Given the description of an element on the screen output the (x, y) to click on. 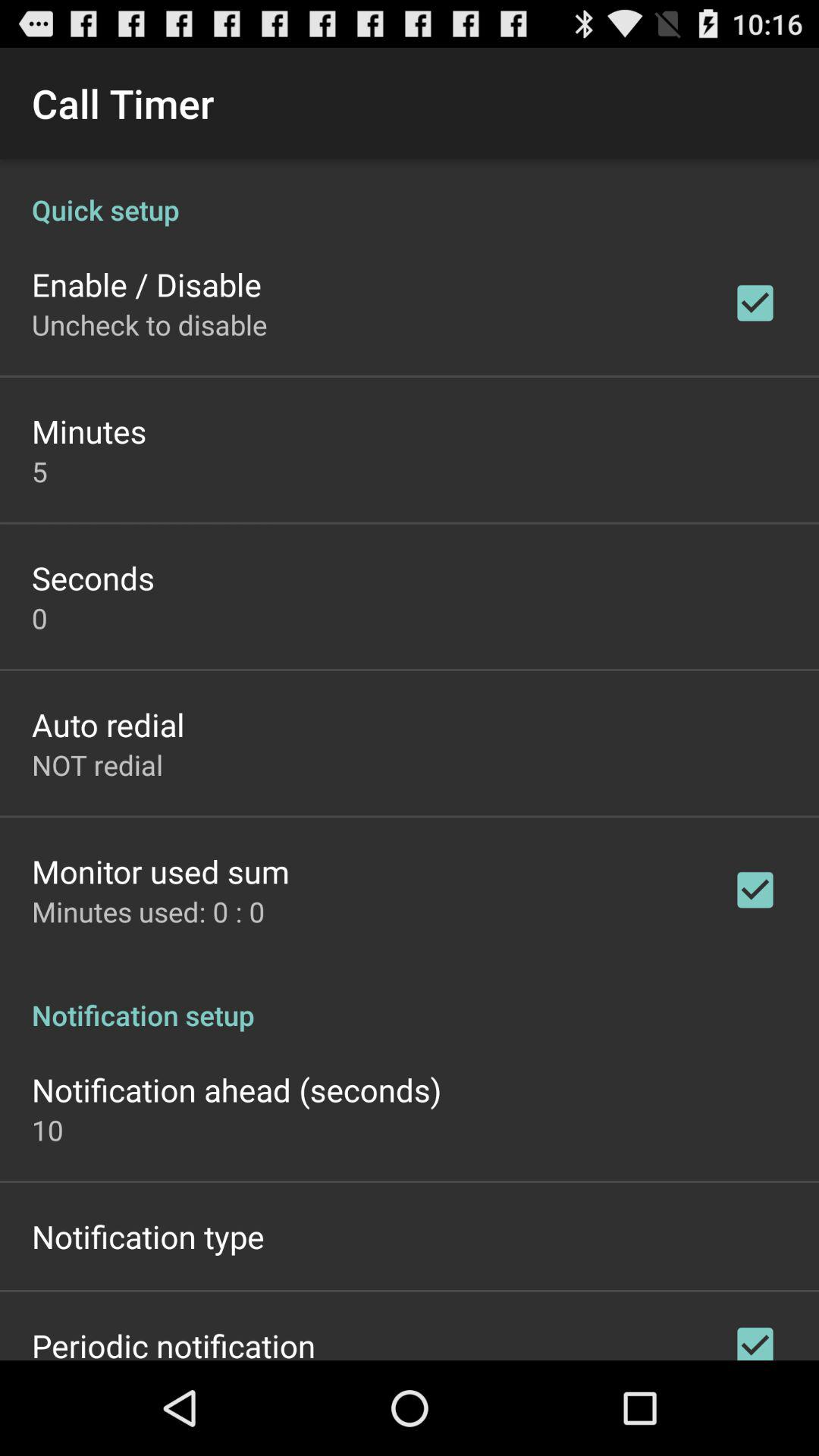
launch auto redial app (107, 724)
